Given the description of an element on the screen output the (x, y) to click on. 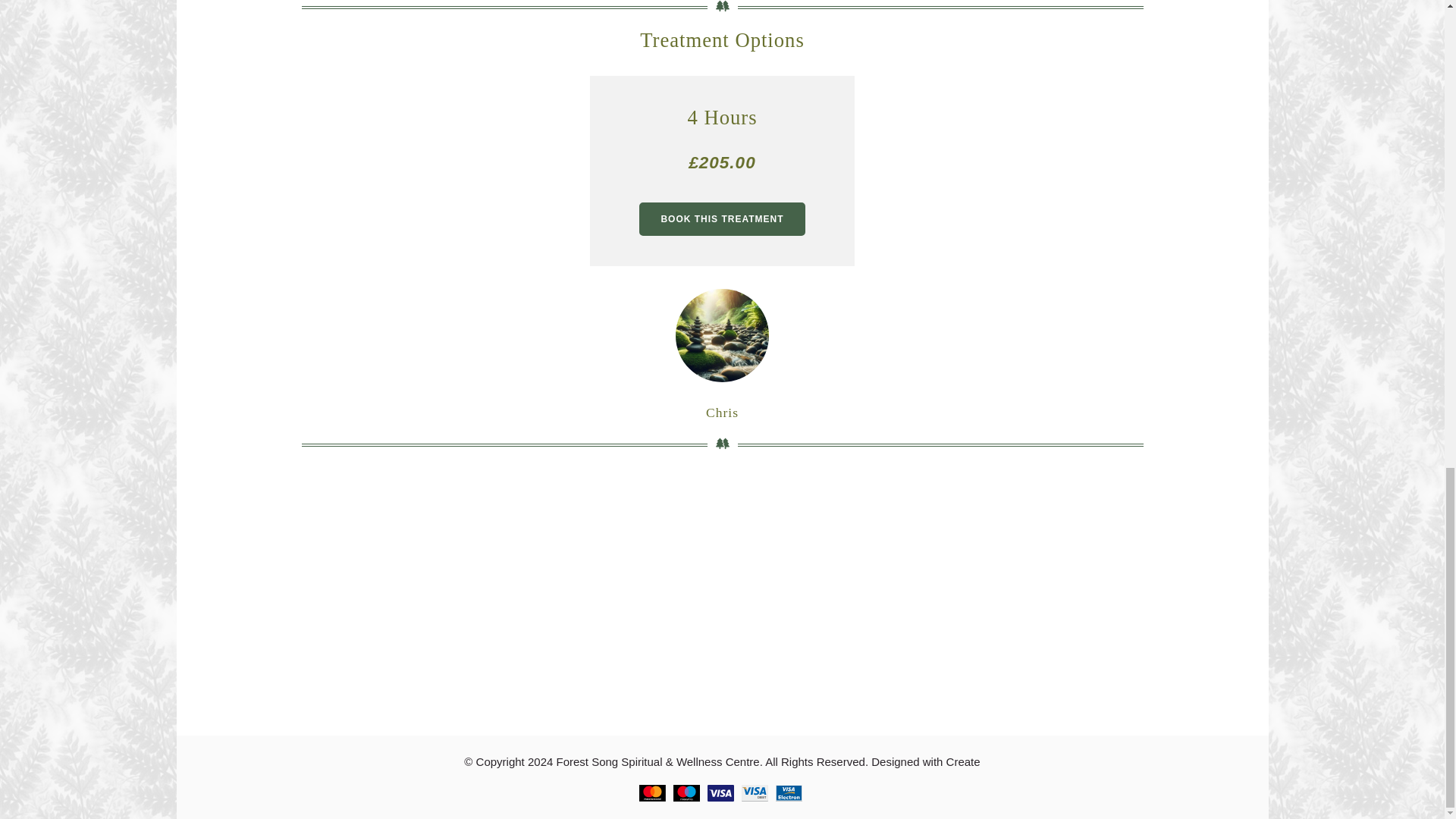
BOOK THIS TREATMENT (722, 218)
Create (962, 761)
